Given the description of an element on the screen output the (x, y) to click on. 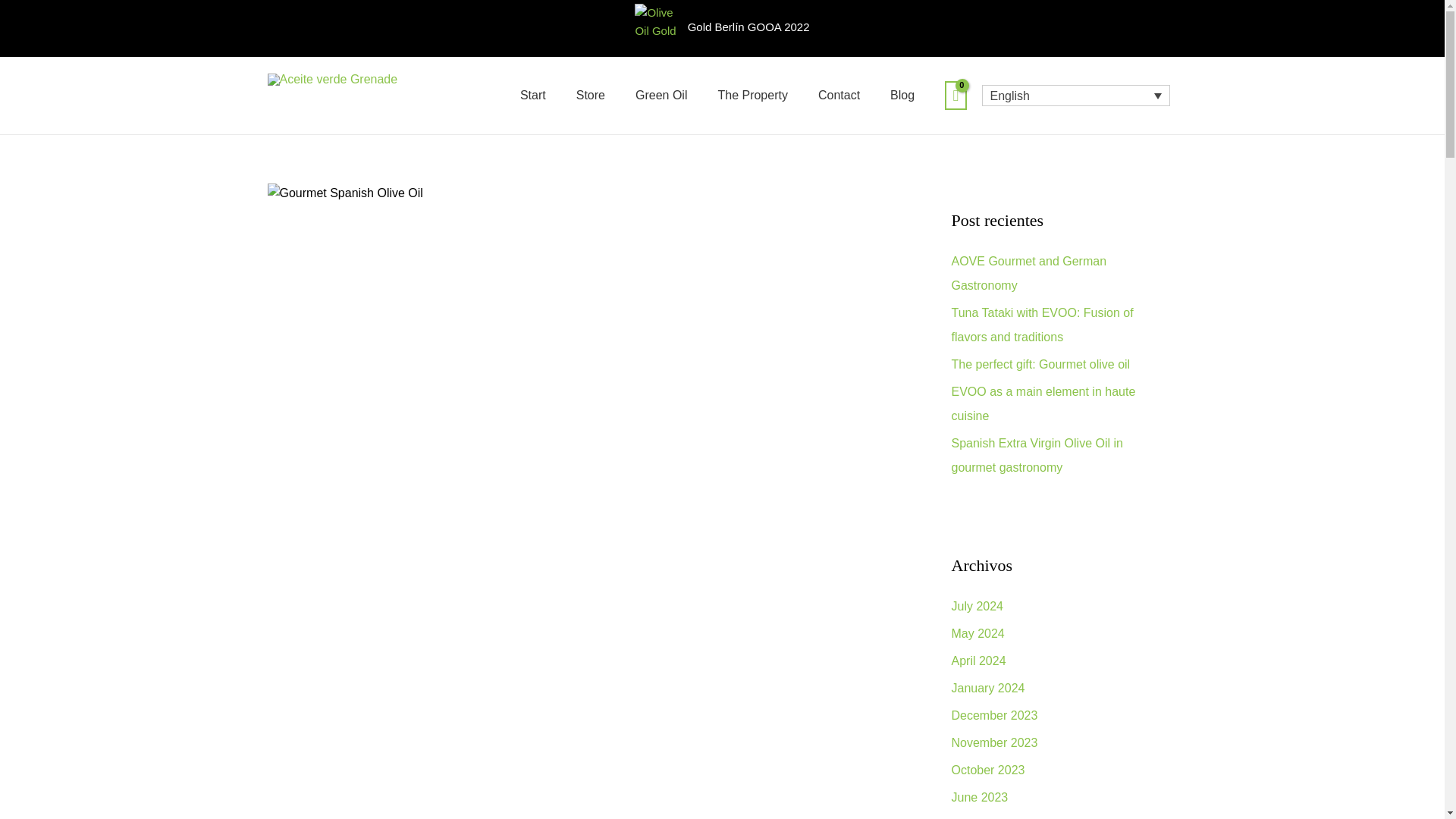
Blog (902, 95)
Green Oil (660, 95)
Start (532, 95)
Contact (839, 95)
English (1075, 96)
The Property (751, 95)
Store (590, 95)
